Given the description of an element on the screen output the (x, y) to click on. 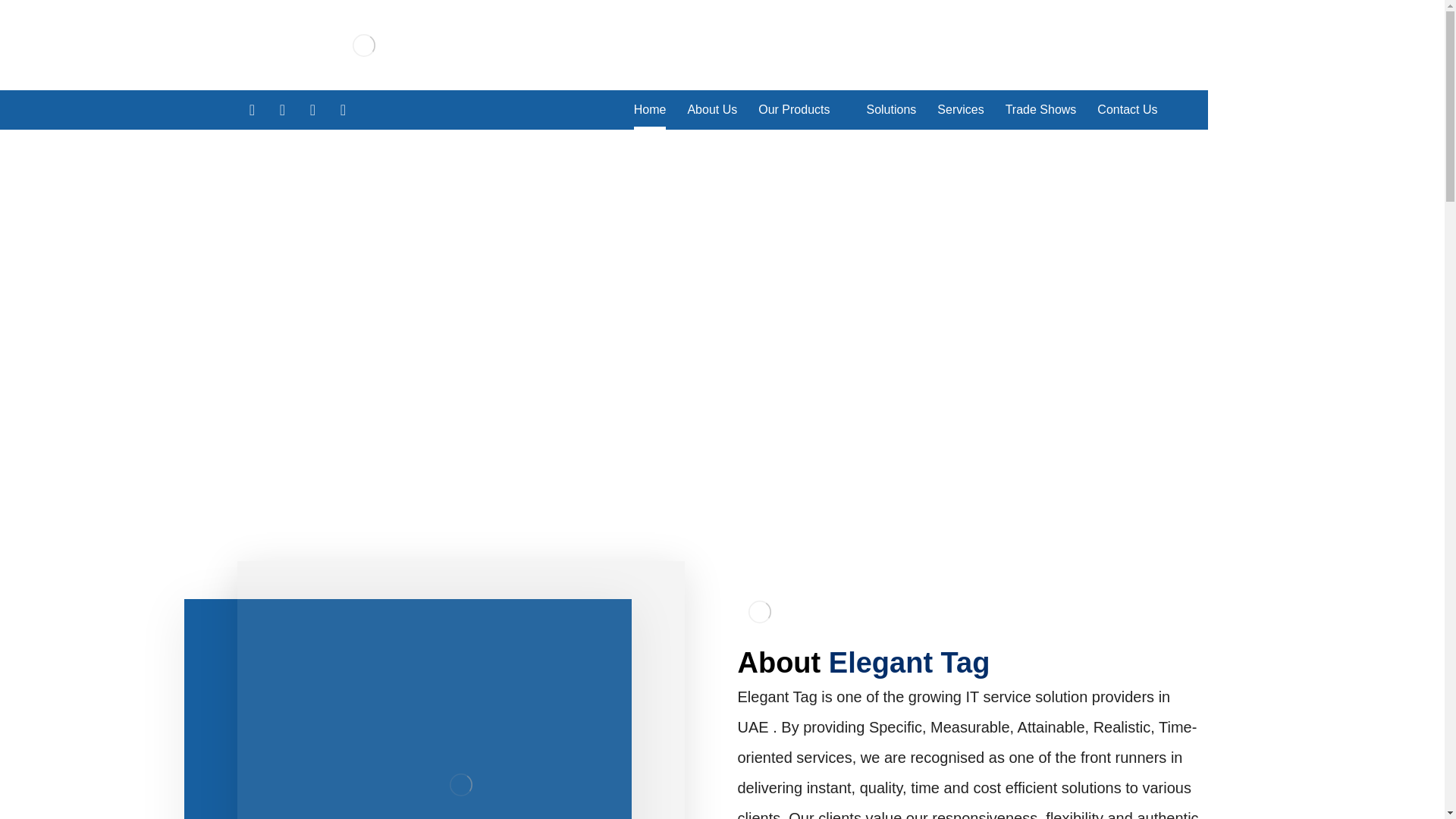
Contact Us (1127, 109)
About Us (711, 109)
Trade Shows (1041, 109)
Solutions (890, 109)
Services (960, 109)
Our Products (801, 109)
